Given the description of an element on the screen output the (x, y) to click on. 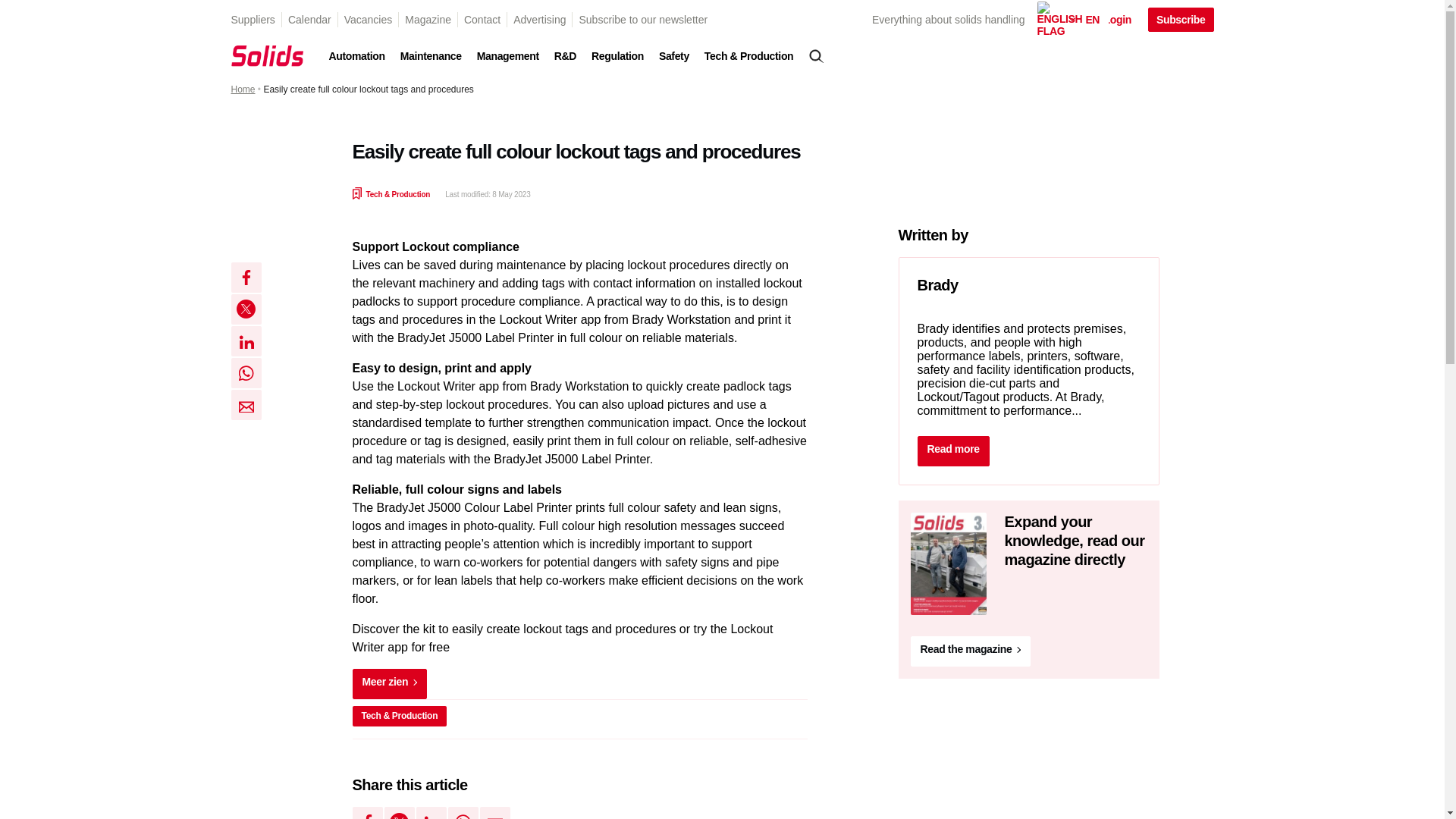
Login (1109, 19)
Magazine (427, 19)
Subscribe (1181, 19)
Suppliers (252, 19)
icon.arrow--dark (413, 682)
Meer zien icon.arrow--dark (389, 684)
Read the magazine (947, 610)
Contact (482, 19)
Share on Facebook (245, 277)
Regulation (617, 55)
